Given the description of an element on the screen output the (x, y) to click on. 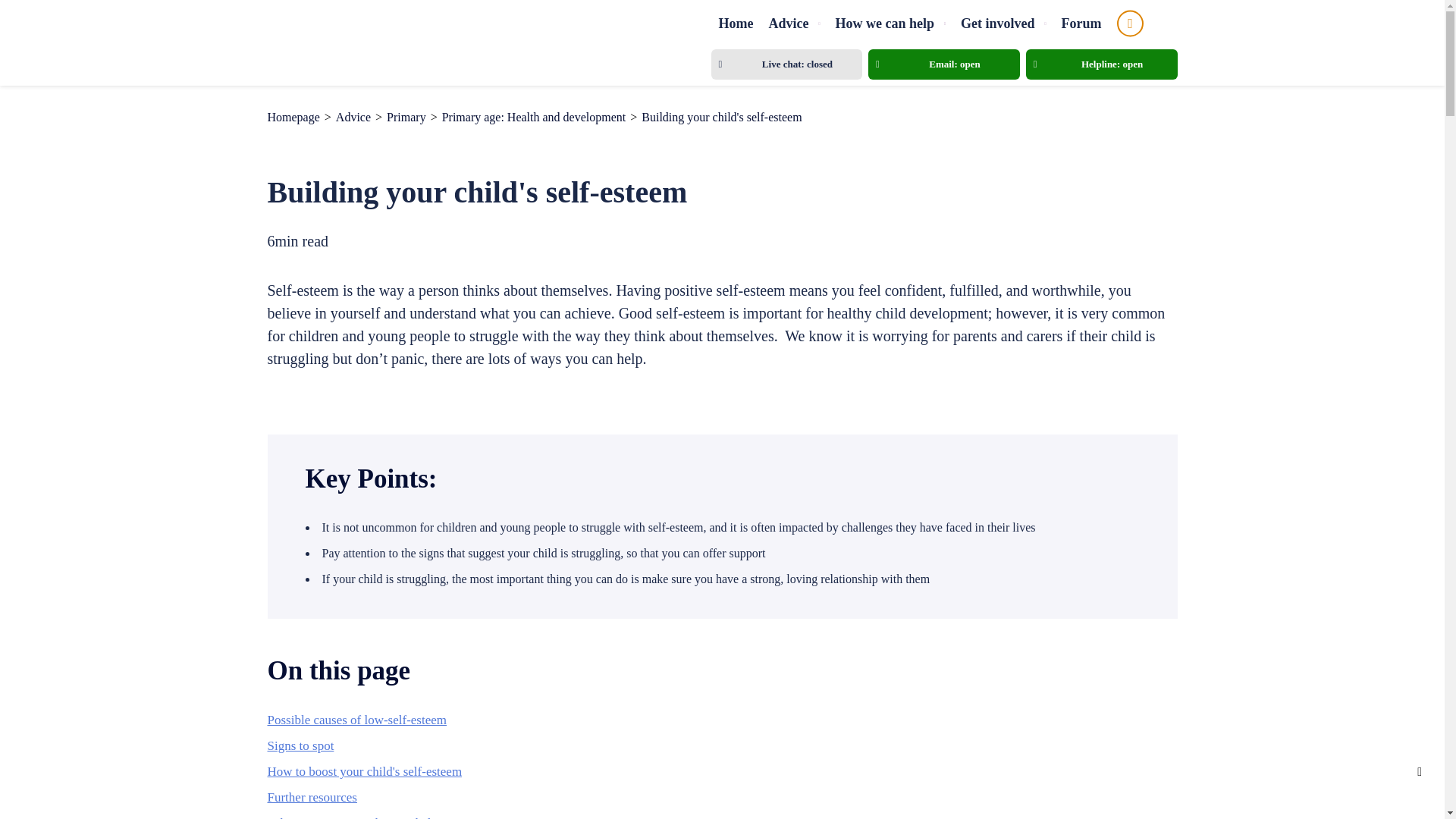
Search (1130, 23)
Primary age: Health and development (534, 116)
Home (736, 22)
Family Lives (347, 42)
Family Lives (347, 42)
Homepage (292, 116)
Cancel search (1152, 23)
Primary (406, 116)
Building your child's self-esteem (722, 116)
Advice (353, 116)
